Given the description of an element on the screen output the (x, y) to click on. 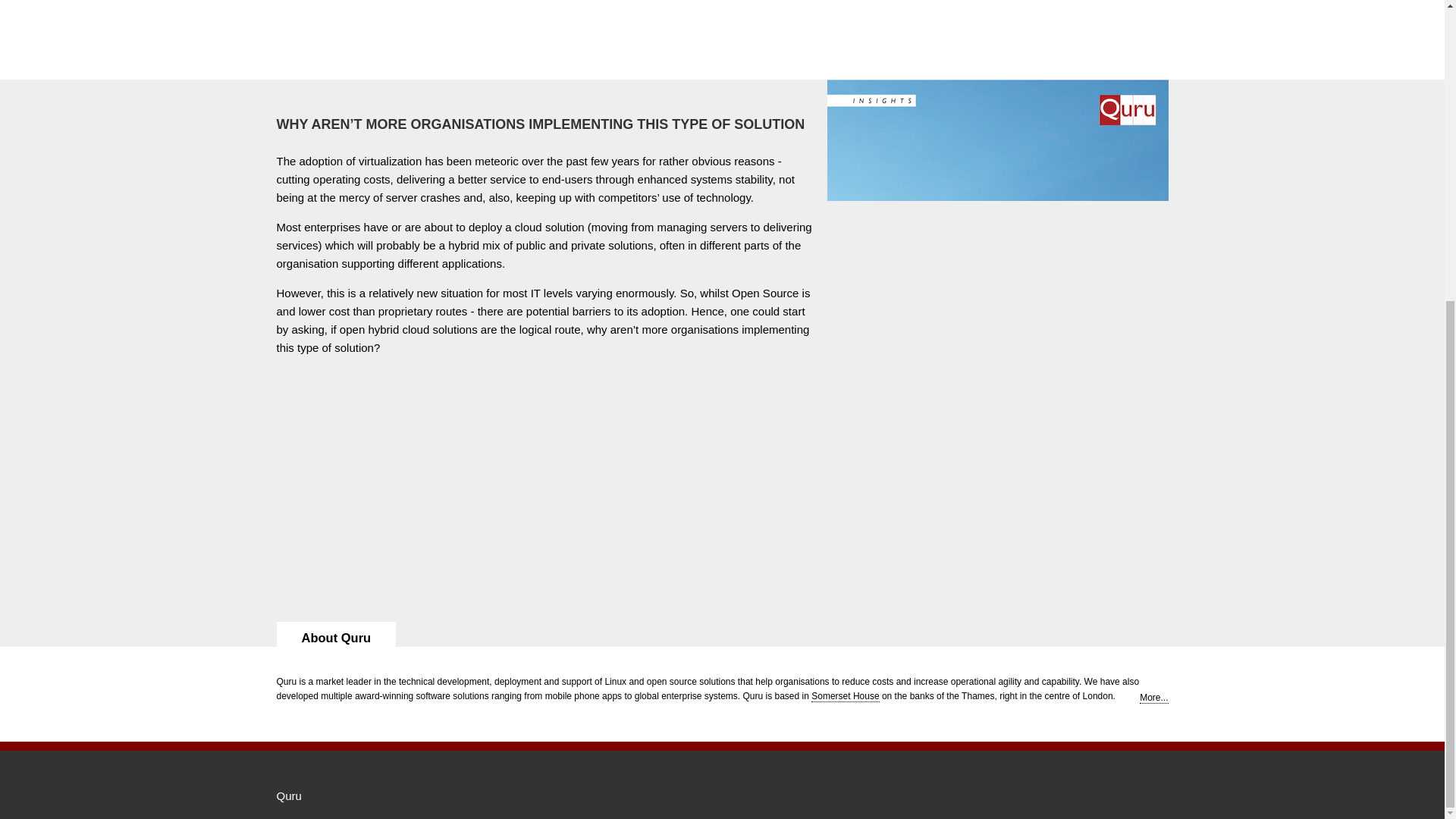
More... (1153, 697)
Somerset House (844, 696)
Quru (288, 795)
